Given the description of an element on the screen output the (x, y) to click on. 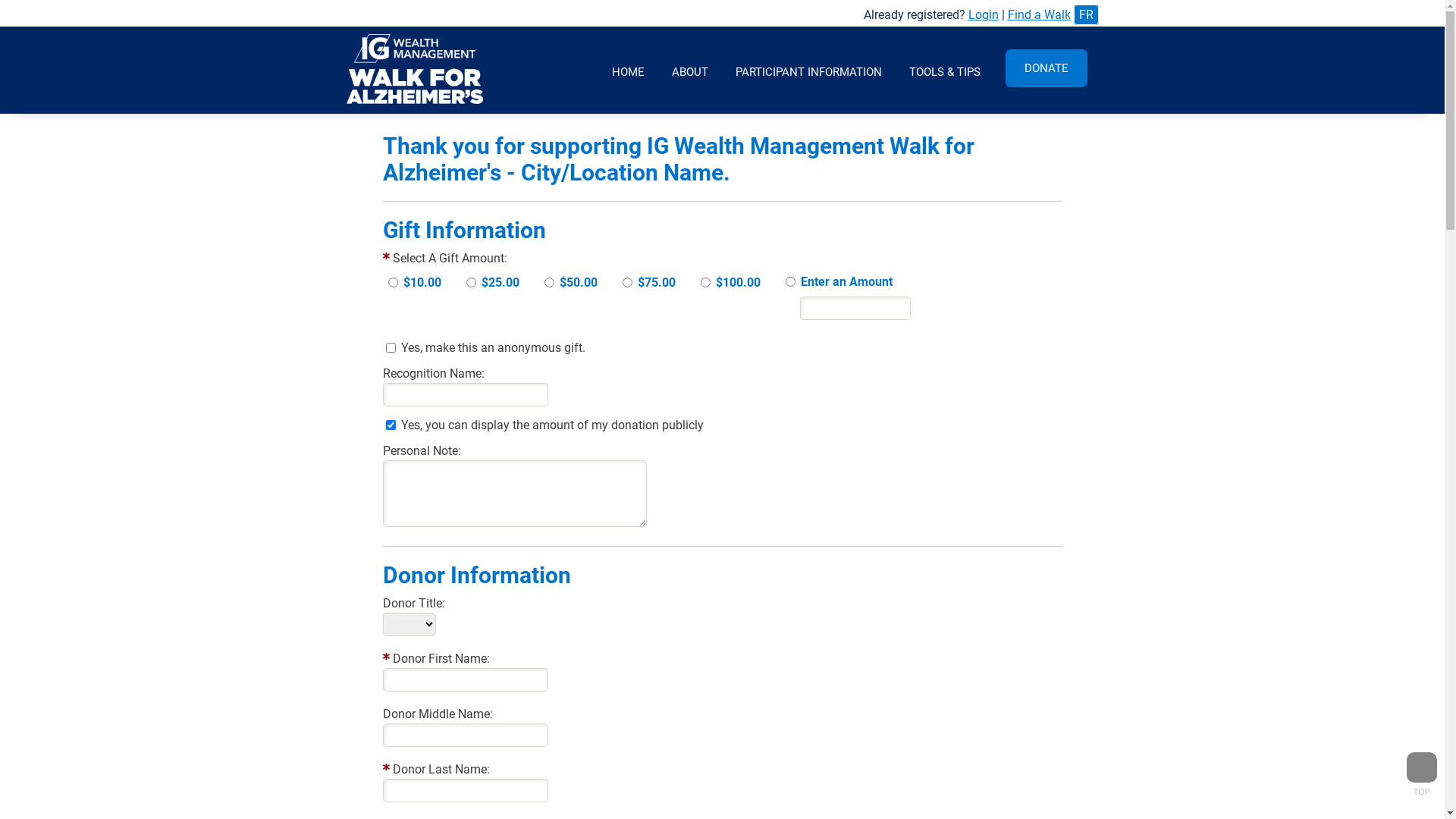
$75.00 Element type: text (655, 282)
on Element type: text (390, 347)
2001 Element type: text (626, 282)
$10.00 Element type: text (422, 282)
2002 Element type: text (705, 282)
1984 Element type: text (470, 282)
$100.00 Element type: text (737, 282)
1981 Element type: text (393, 282)
$50.00 Element type: text (578, 282)
1982 Element type: text (549, 282)
Find a Walk Element type: text (1038, 14)
HOME Element type: text (627, 69)
Login Element type: text (982, 14)
TOP Element type: text (1421, 774)
ABOUT Element type: text (689, 69)
Enter an Amount Element type: text (846, 281)
$25.00 Element type: text (499, 282)
on Element type: text (390, 424)
credit Element type: text (4, 4)
FR Element type: text (1085, 14)
PARTICIPANT INFORMATION Element type: text (808, 69)
TOOLS & TIPS Element type: text (943, 69)
DONATE Element type: text (1046, 68)
1983 Element type: text (790, 281)
